Given the description of an element on the screen output the (x, y) to click on. 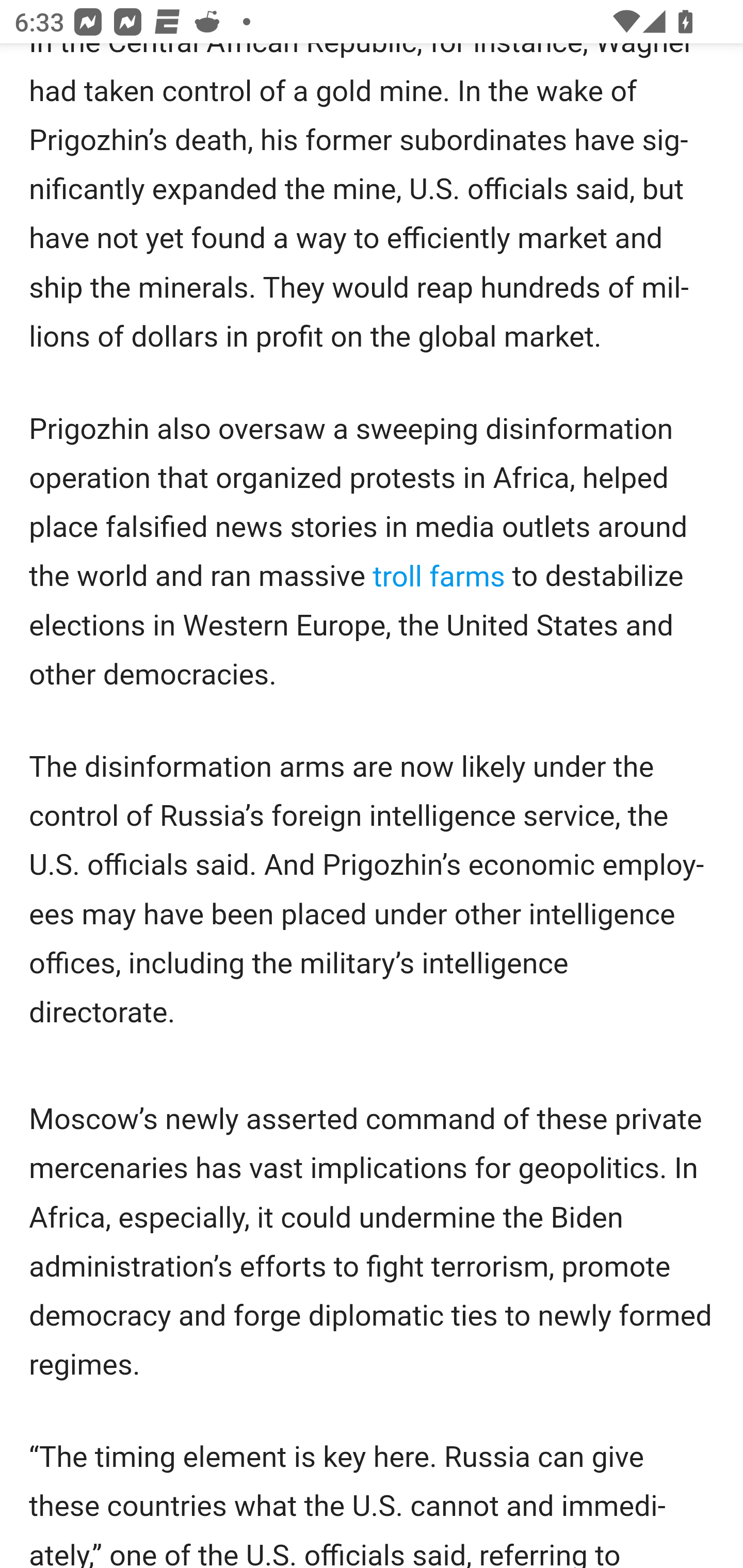
troll farms (438, 576)
